Given the description of an element on the screen output the (x, y) to click on. 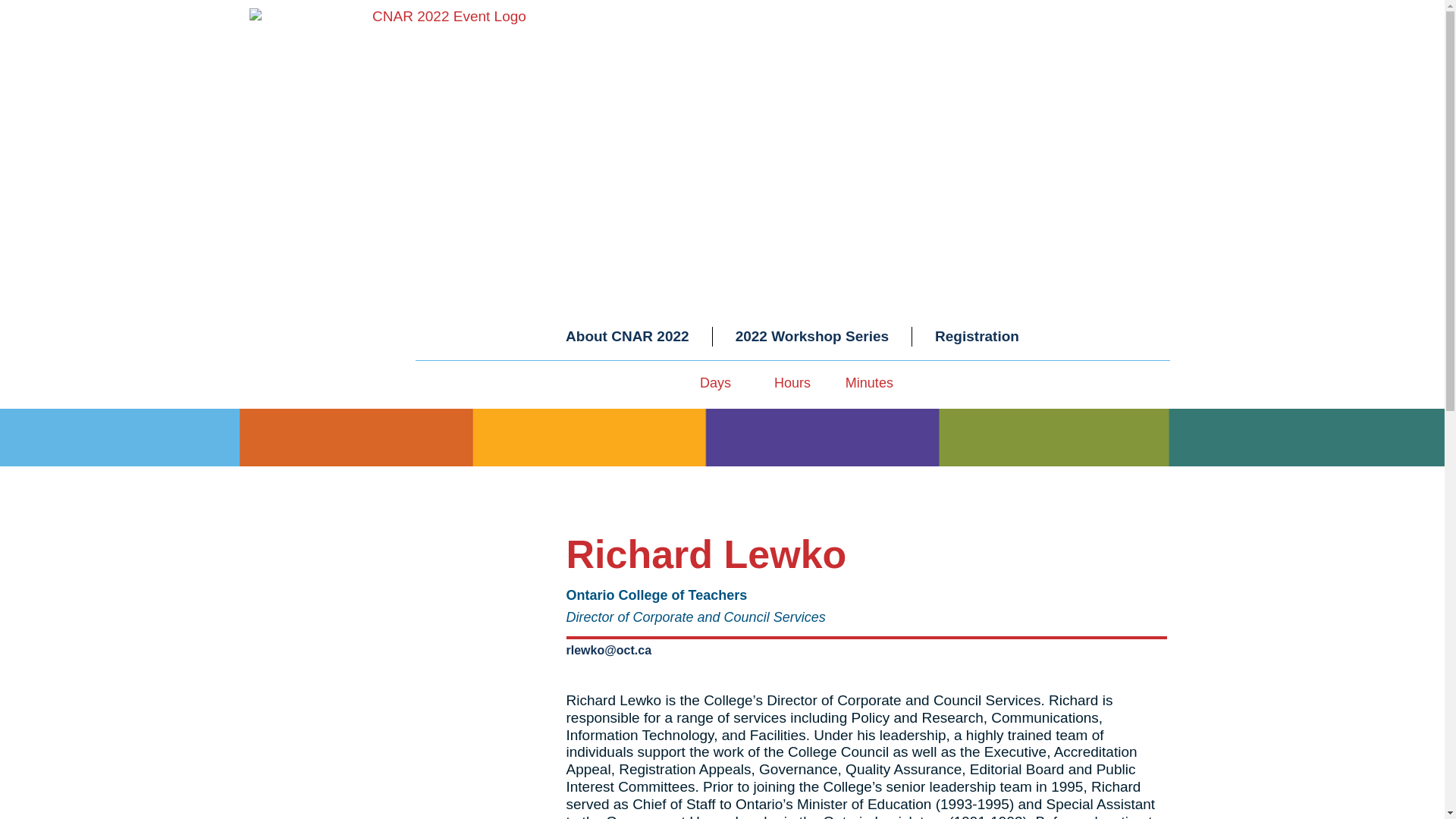
About CNAR 2022 (627, 336)
2022 Workshop Series (812, 336)
Registration (976, 336)
